Given the description of an element on the screen output the (x, y) to click on. 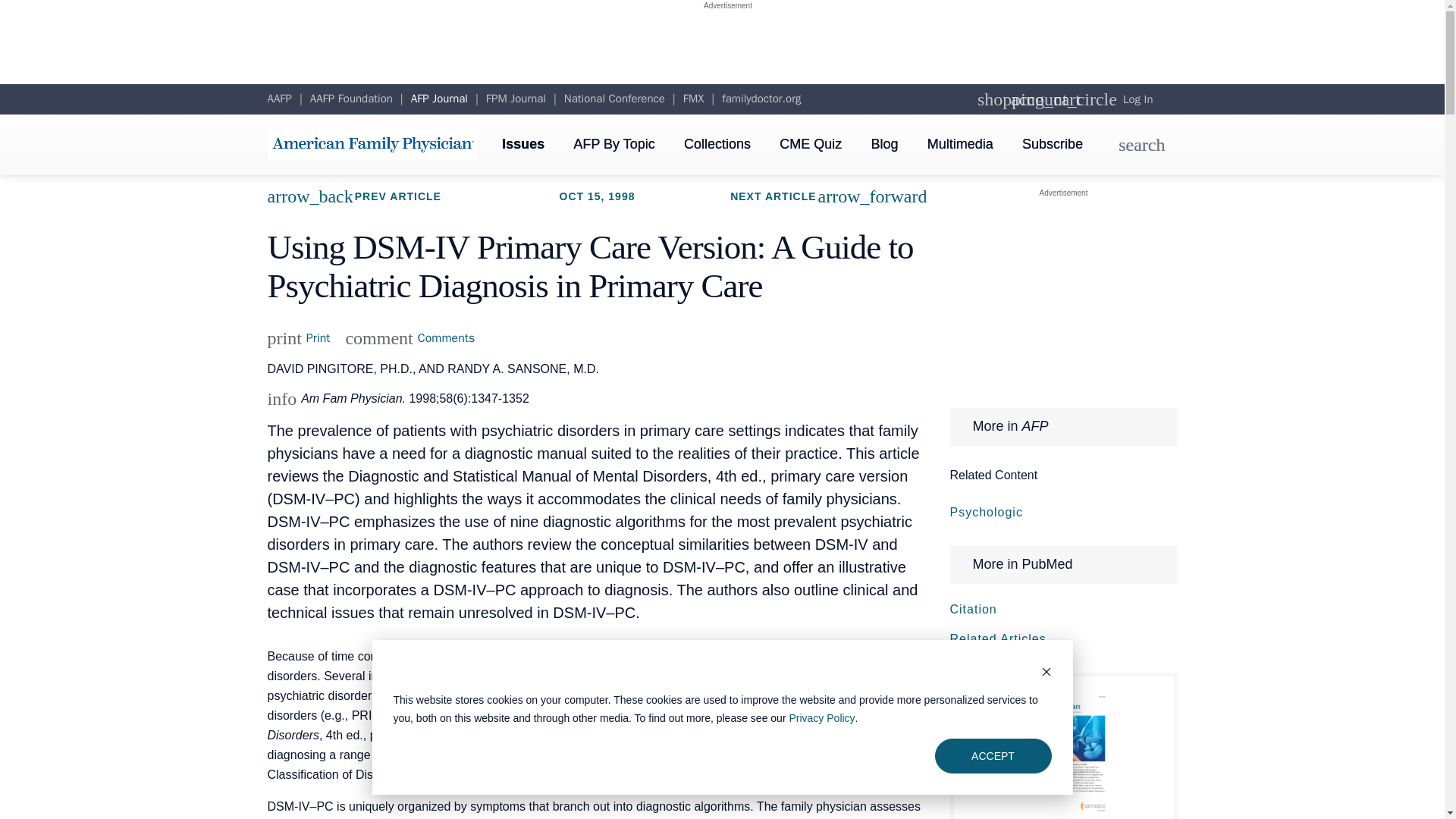
Blog (298, 338)
Issues (884, 144)
familydoctor.org (523, 144)
CME Quiz (761, 99)
AAFP (810, 144)
AFP Journal (278, 99)
FMX (438, 99)
Multimedia (409, 338)
3rd party ad content (693, 99)
3rd party ad content (959, 144)
Collections (1062, 298)
National Conference (727, 49)
0 (717, 144)
